Given the description of an element on the screen output the (x, y) to click on. 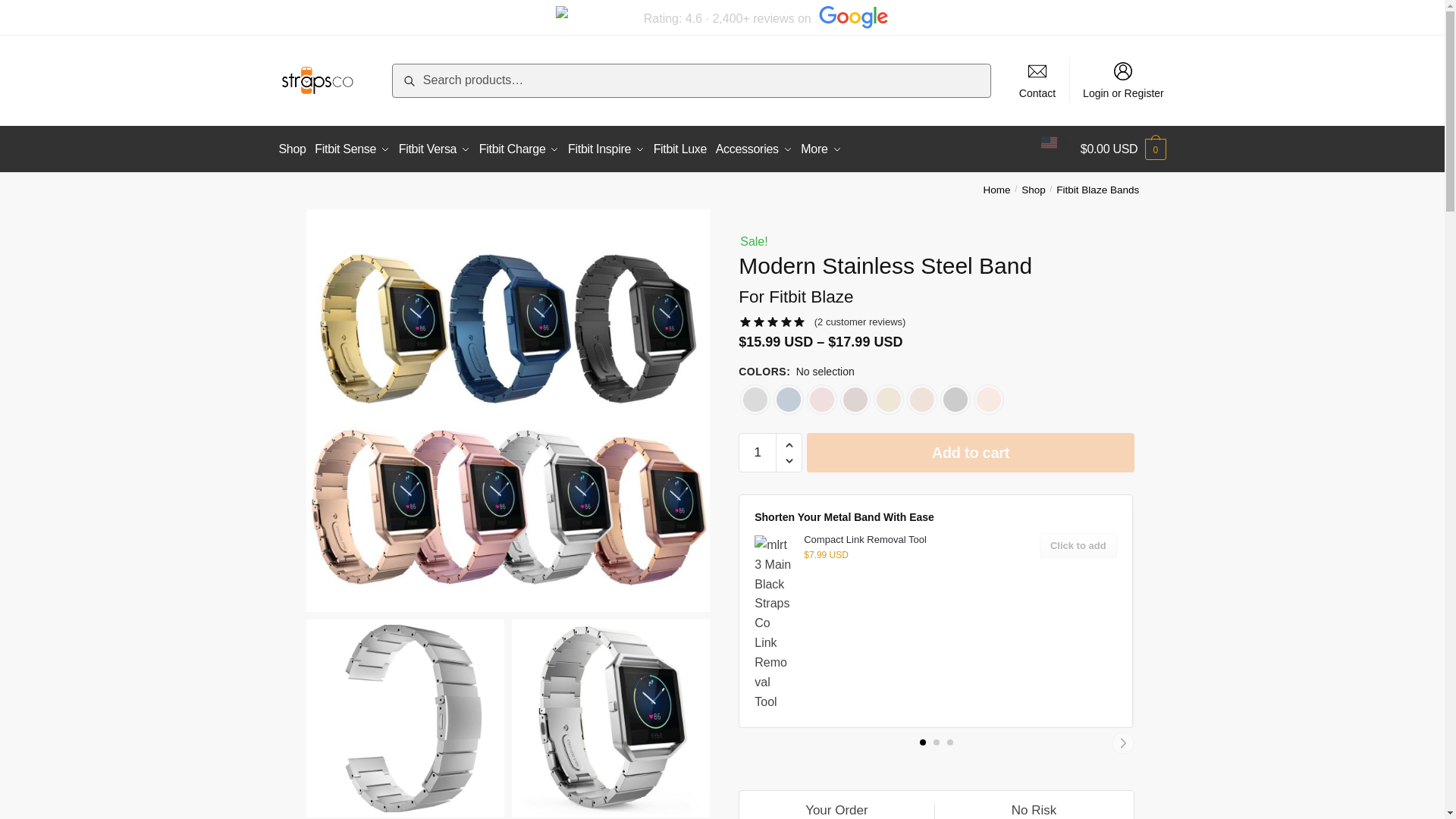
More (820, 148)
Fitbit Charge (518, 148)
click to zoom-in (611, 718)
Accessories (754, 148)
Fitbit Inspire (605, 148)
View your shopping cart (1123, 148)
Fitbit Luxe (679, 148)
Contact (1037, 80)
Fitbit Versa (434, 148)
Login or Register (1123, 80)
